Given the description of an element on the screen output the (x, y) to click on. 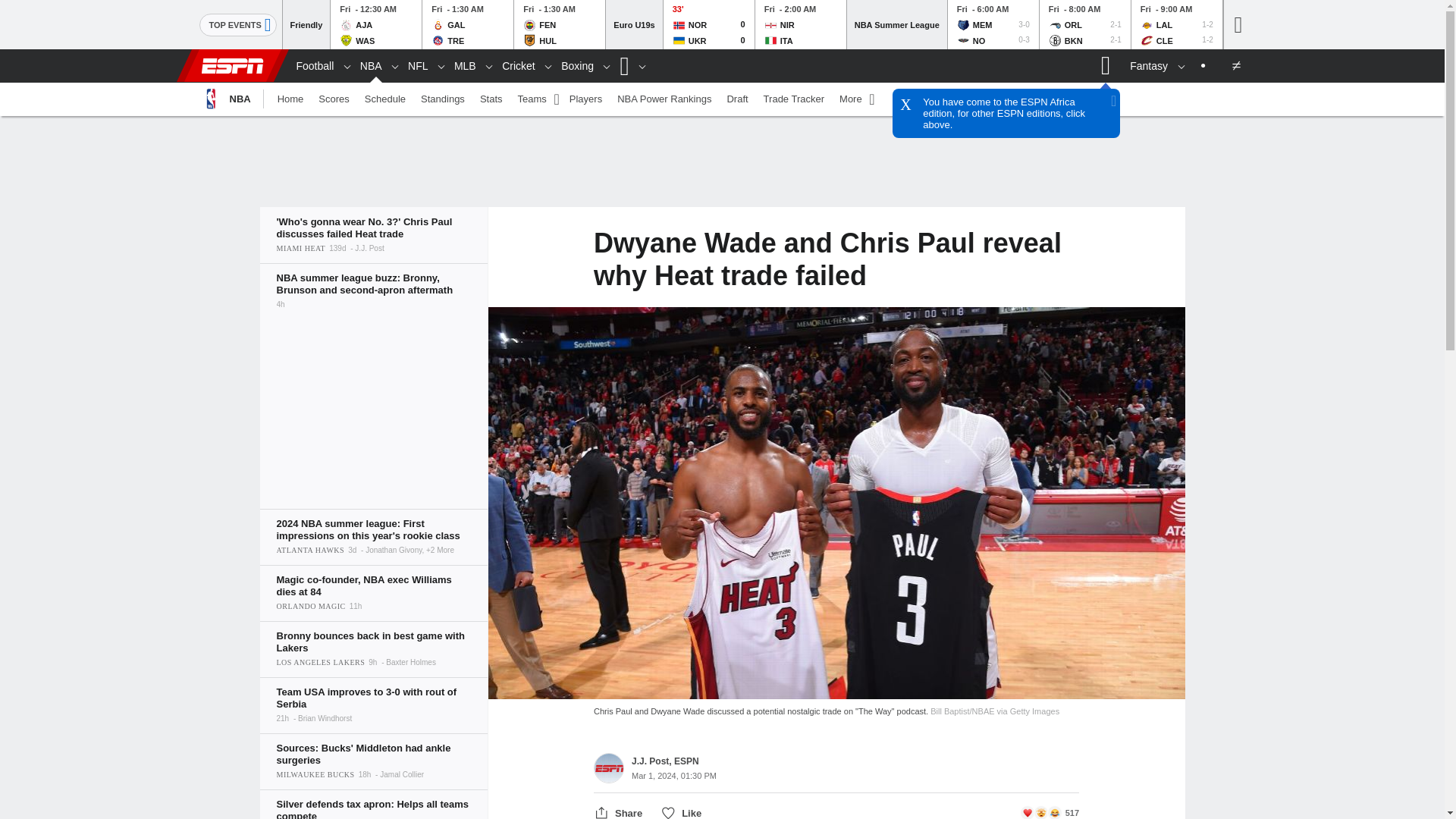
TOP EVENTS (467, 24)
NBA (237, 24)
